Given the description of an element on the screen output the (x, y) to click on. 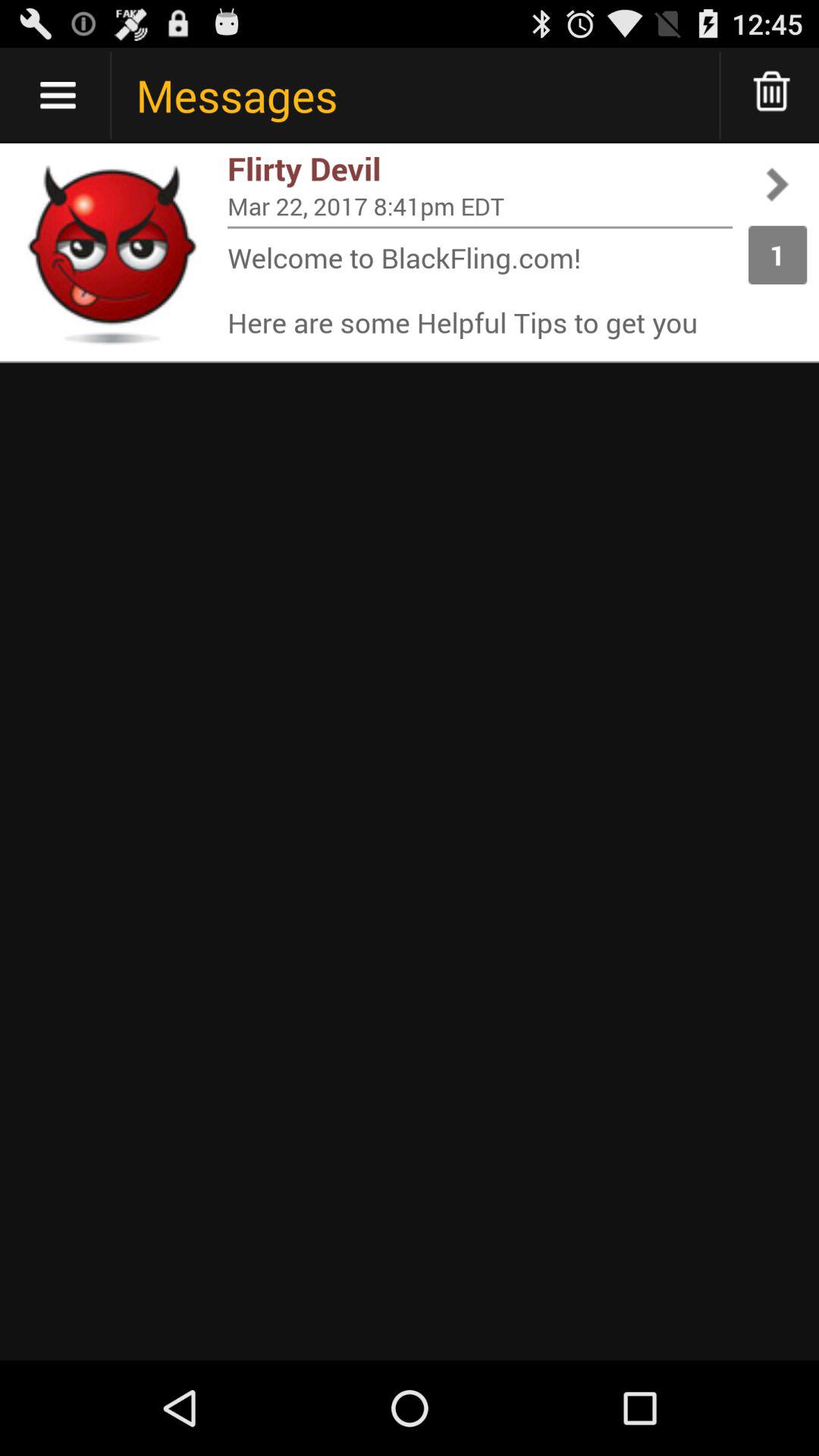
turn on flirty devil app (479, 168)
